Given the description of an element on the screen output the (x, y) to click on. 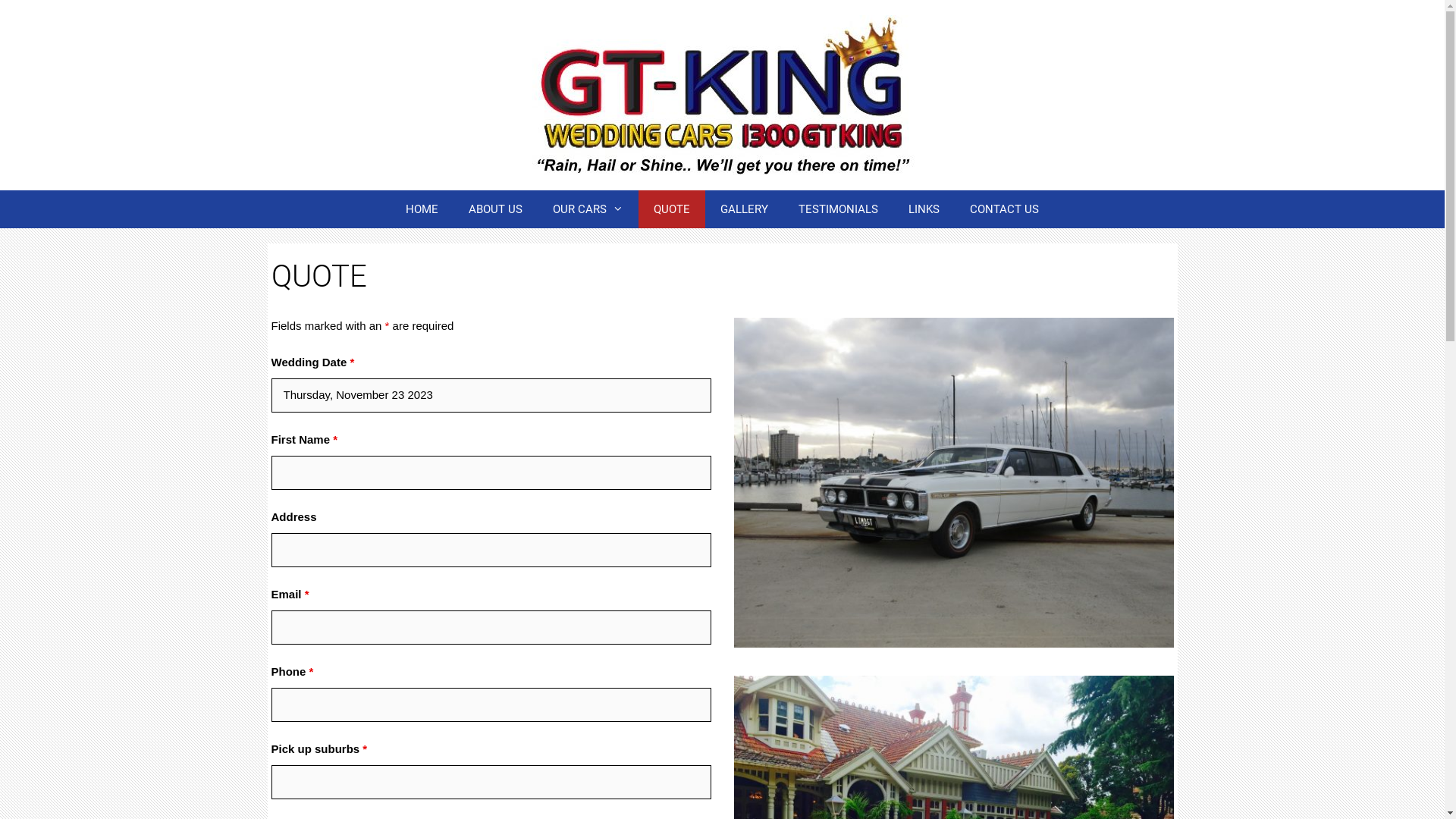
GT KING Wedding Cars and Limo Hire Element type: hover (722, 93)
QUOTE Element type: text (671, 209)
HOME Element type: text (421, 209)
ABOUT US Element type: text (495, 209)
GALLERY Element type: text (744, 209)
CONTACT US Element type: text (1004, 209)
LINKS Element type: text (923, 209)
OUR CARS Element type: text (587, 209)
TESTIMONIALS Element type: text (838, 209)
GT KING Wedding Cars and Limo Hire Element type: hover (722, 95)
